Given the description of an element on the screen output the (x, y) to click on. 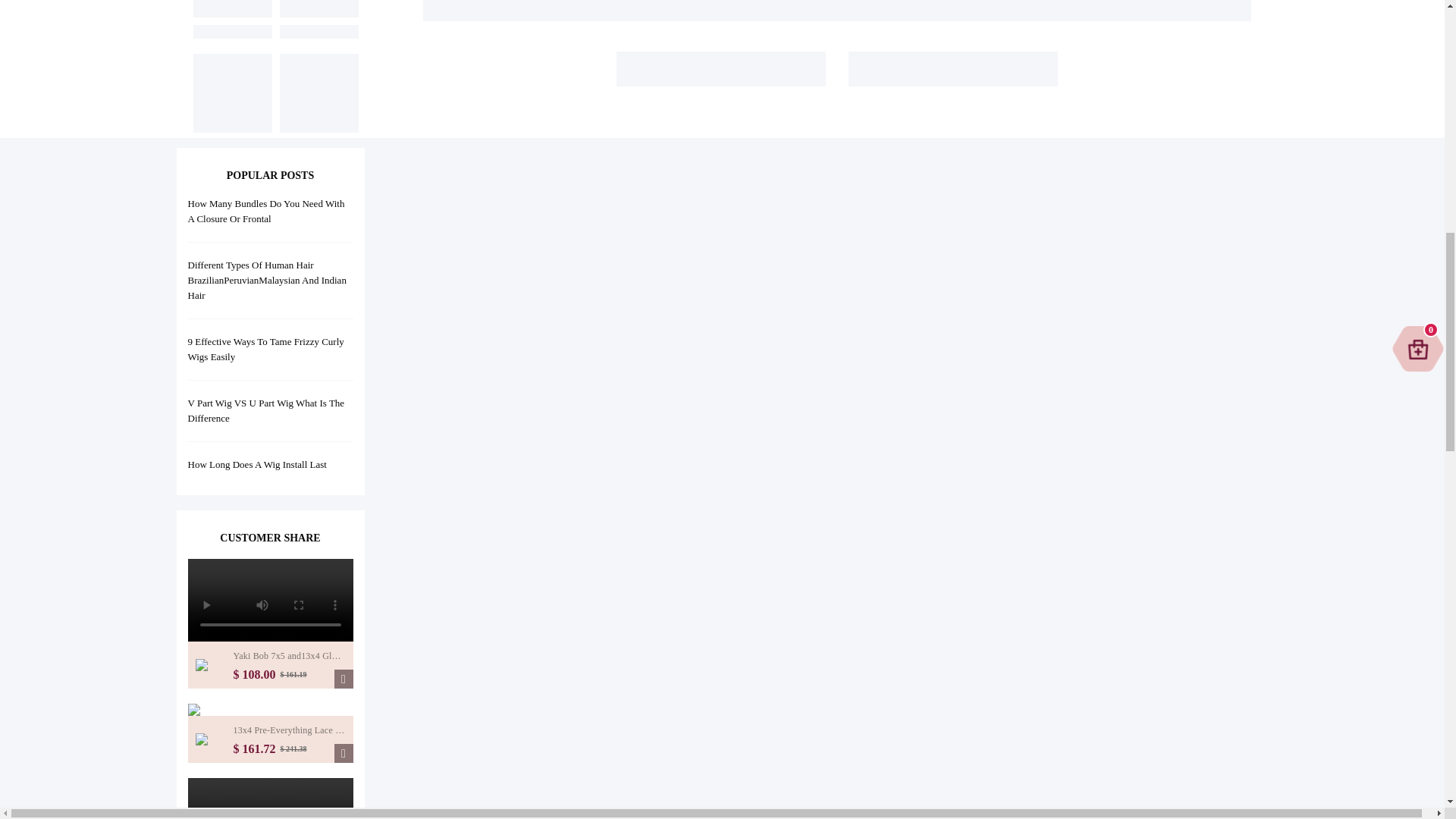
V Part Wig VS U Part Wig What Is The Difference (266, 410)
How Many Bundles Do You Need With A Closure Or Frontal (266, 211)
How Long Does A Wig Install Last (256, 464)
9 Effective Ways To Tame Frizzy Curly Wigs Easily (265, 348)
